Given the description of an element on the screen output the (x, y) to click on. 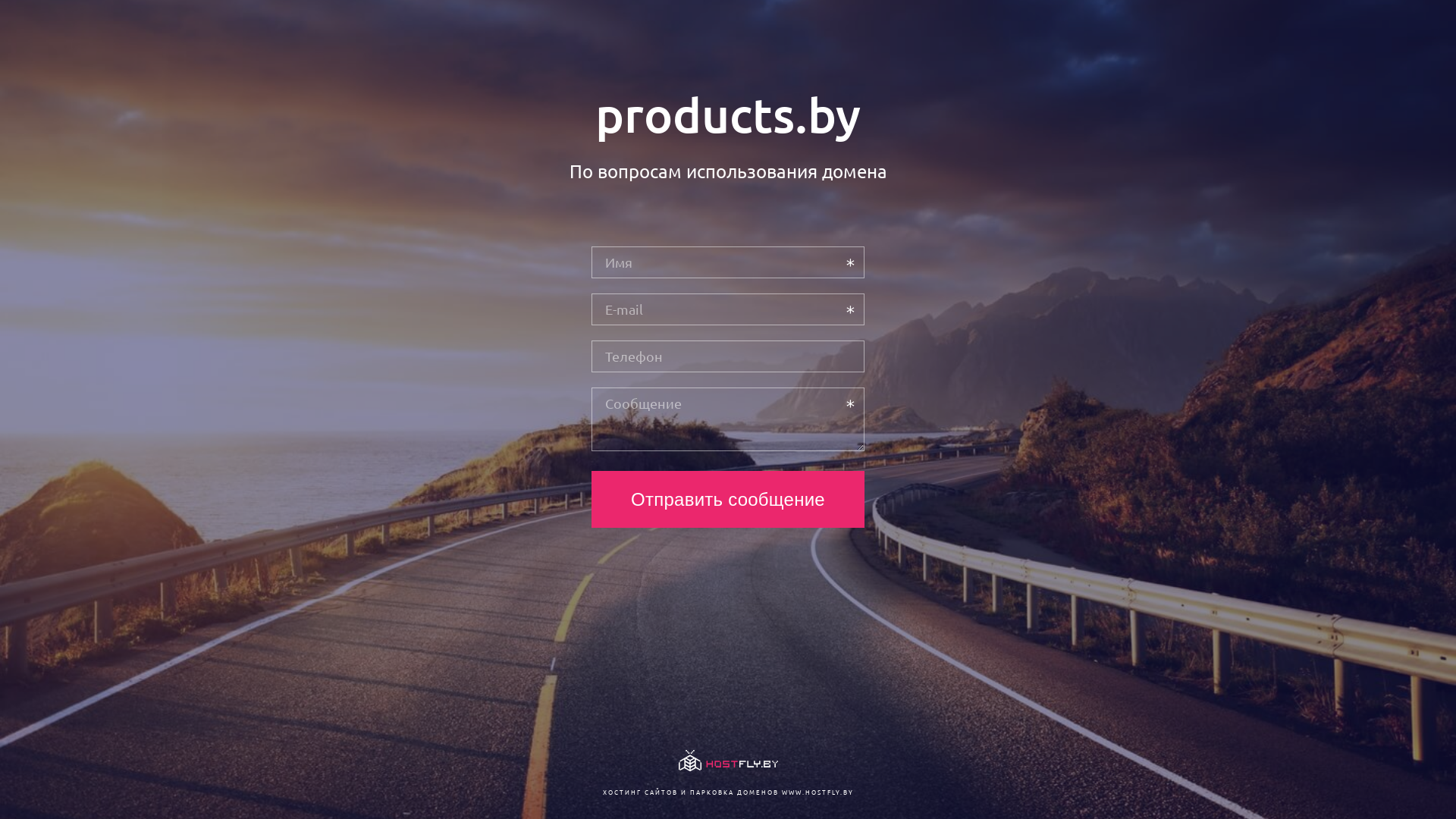
WWW.HOSTFLY.BY Element type: text (817, 791)
